Given the description of an element on the screen output the (x, y) to click on. 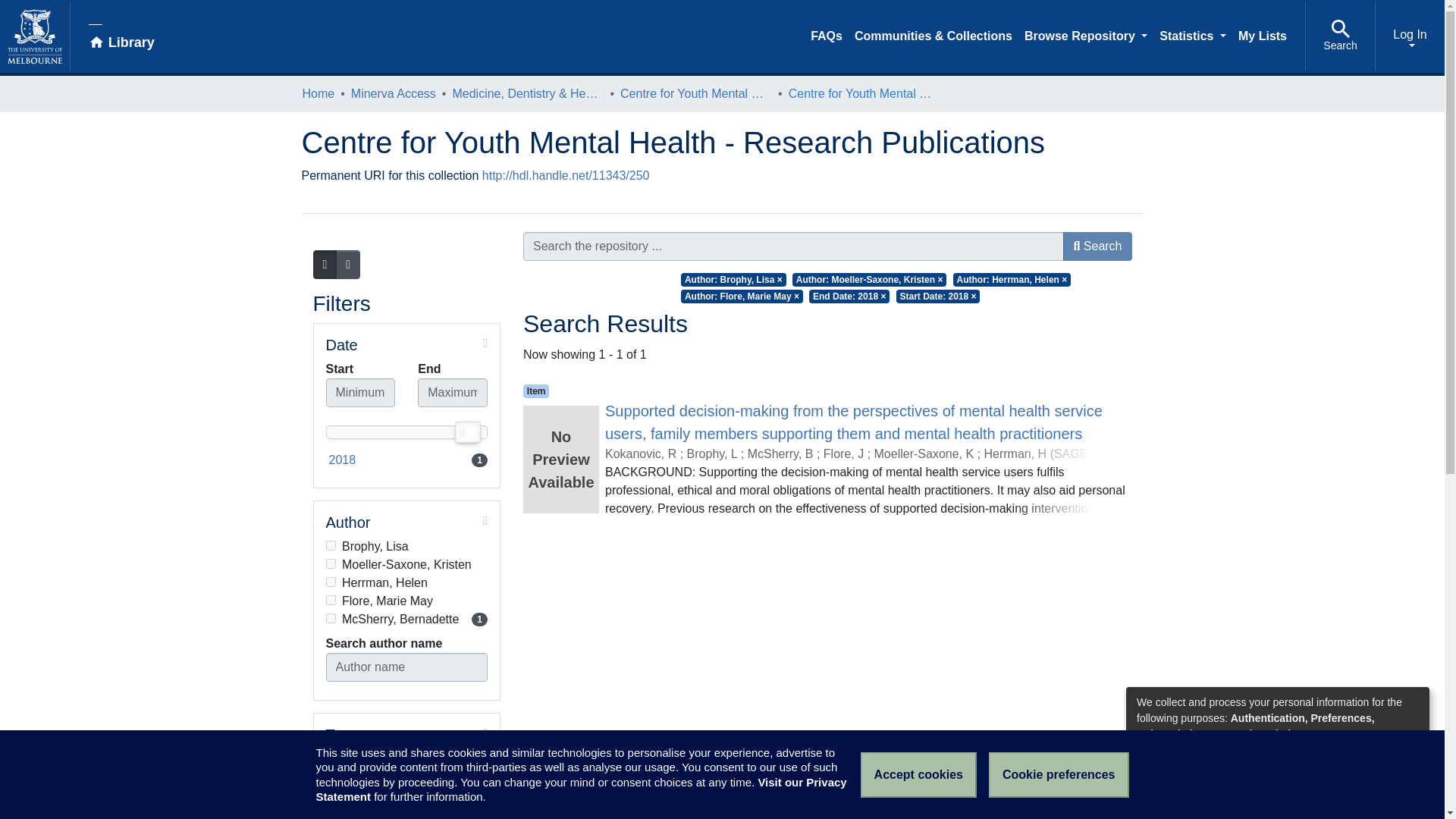
on (331, 563)
Date (406, 344)
Home (317, 94)
Library (121, 36)
Author (406, 619)
Statistics (406, 460)
Brophy, Lisa (406, 522)
Moeller-Saxone, Kristen (1192, 38)
Collapse filter (406, 546)
Herrman, Helen (406, 565)
on (422, 343)
on (406, 583)
on (331, 618)
